Given the description of an element on the screen output the (x, y) to click on. 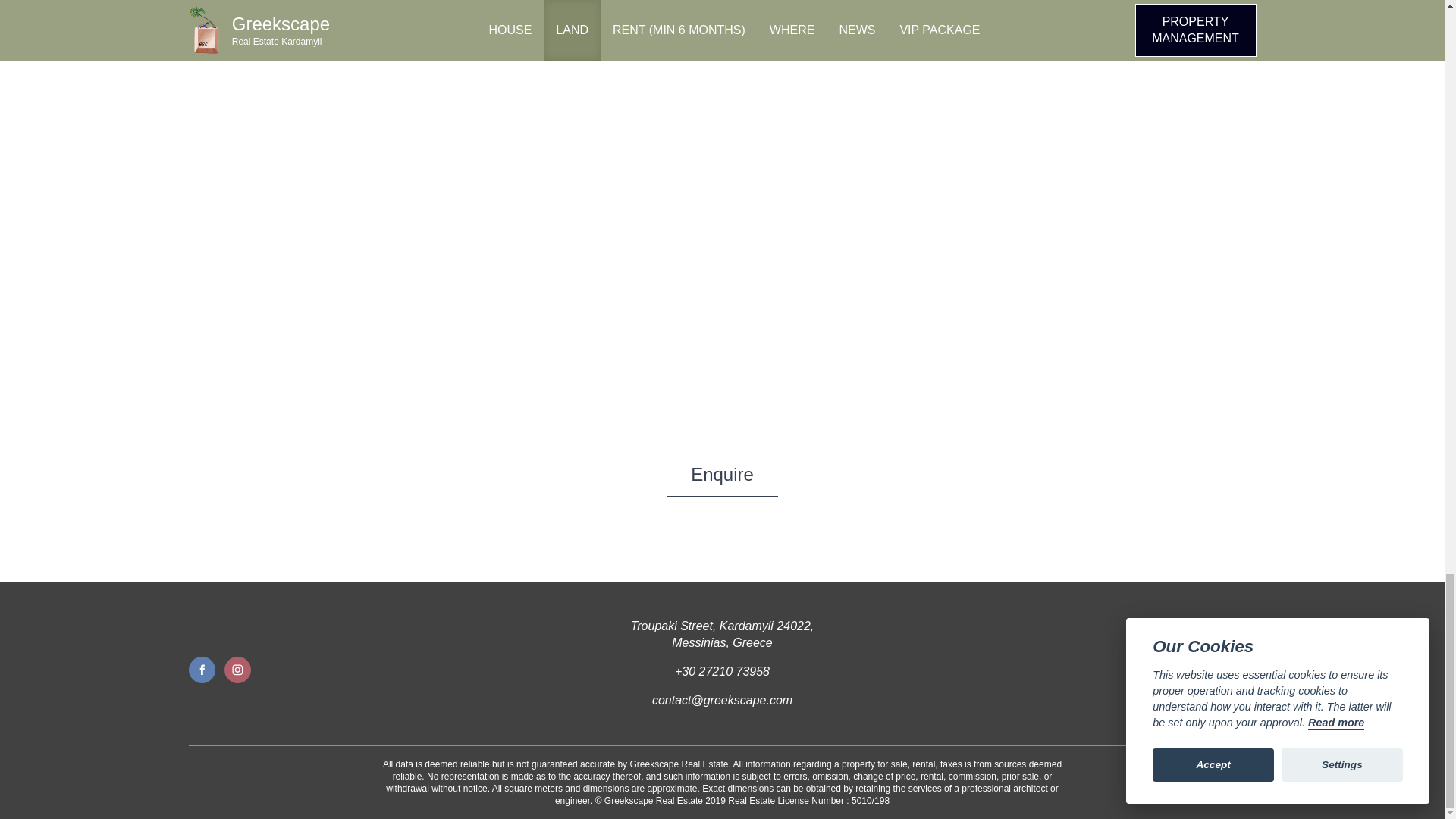
Enquire (721, 474)
